Given the description of an element on the screen output the (x, y) to click on. 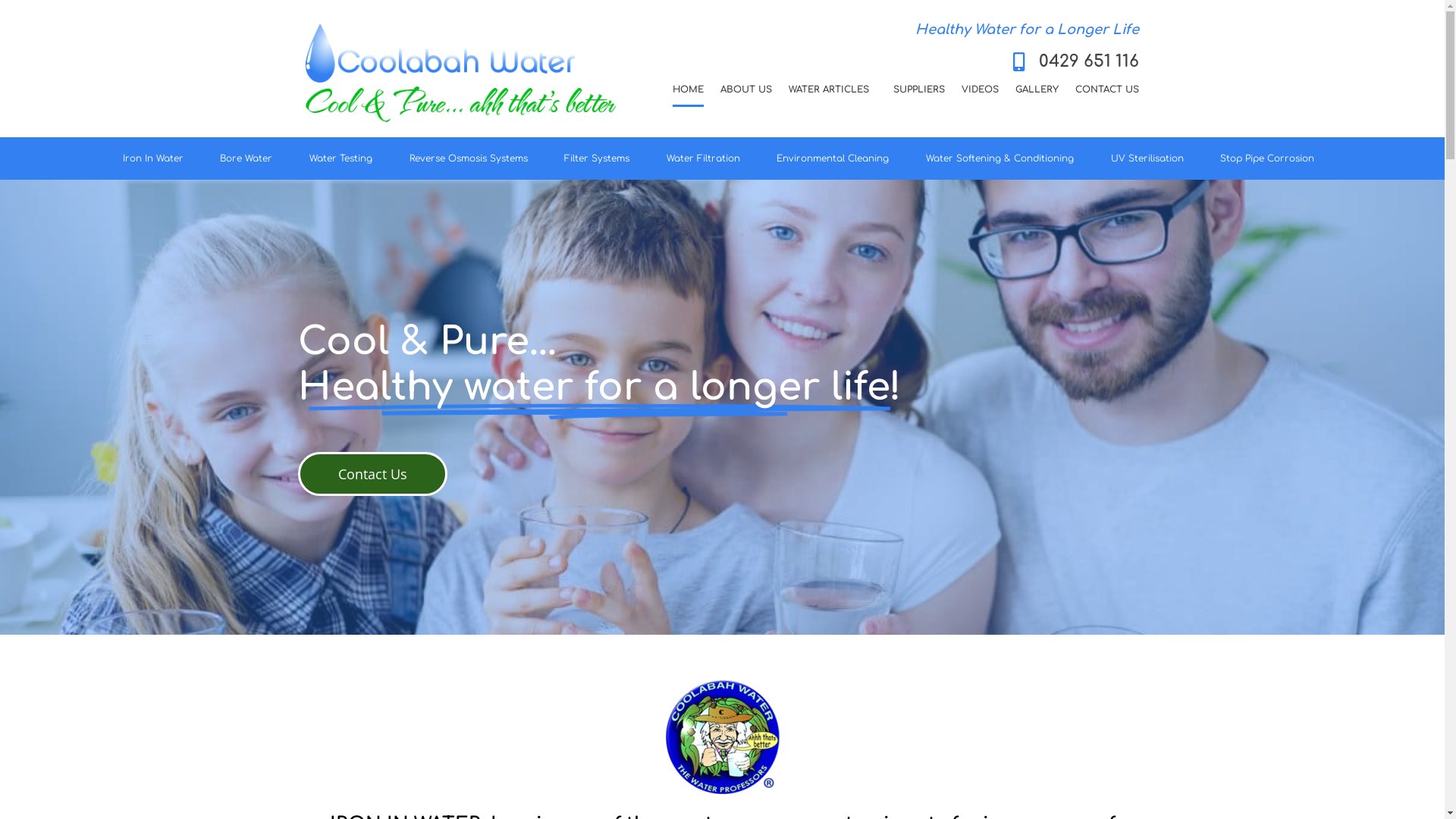
UV Sterilisation Element type: text (1150, 158)
VIDEOS Element type: text (979, 89)
Water Filtration Element type: text (706, 158)
Bore Water Element type: text (250, 158)
Filter Systems Element type: text (600, 158)
CONTACT US Element type: text (1107, 89)
GALLERY Element type: text (1036, 89)
Water Softening & Conditioning Element type: text (1003, 158)
Iron In Water Element type: text (156, 158)
Stop Pipe Corrosion Element type: text (1271, 158)
Home | Water Purification Element type: hover (722, 736)
ABOUT US Element type: text (745, 89)
Contact Us Element type: text (371, 473)
Water Testing Element type: text (344, 158)
0429 651 116 Element type: text (1070, 61)
WATER ARTICLES Element type: text (832, 89)
HOME Element type: text (687, 89)
SUPPLIERS Element type: text (918, 89)
Environmental Cleaning Element type: text (836, 158)
Reverse Osmosis Systems Element type: text (471, 158)
